Given the description of an element on the screen output the (x, y) to click on. 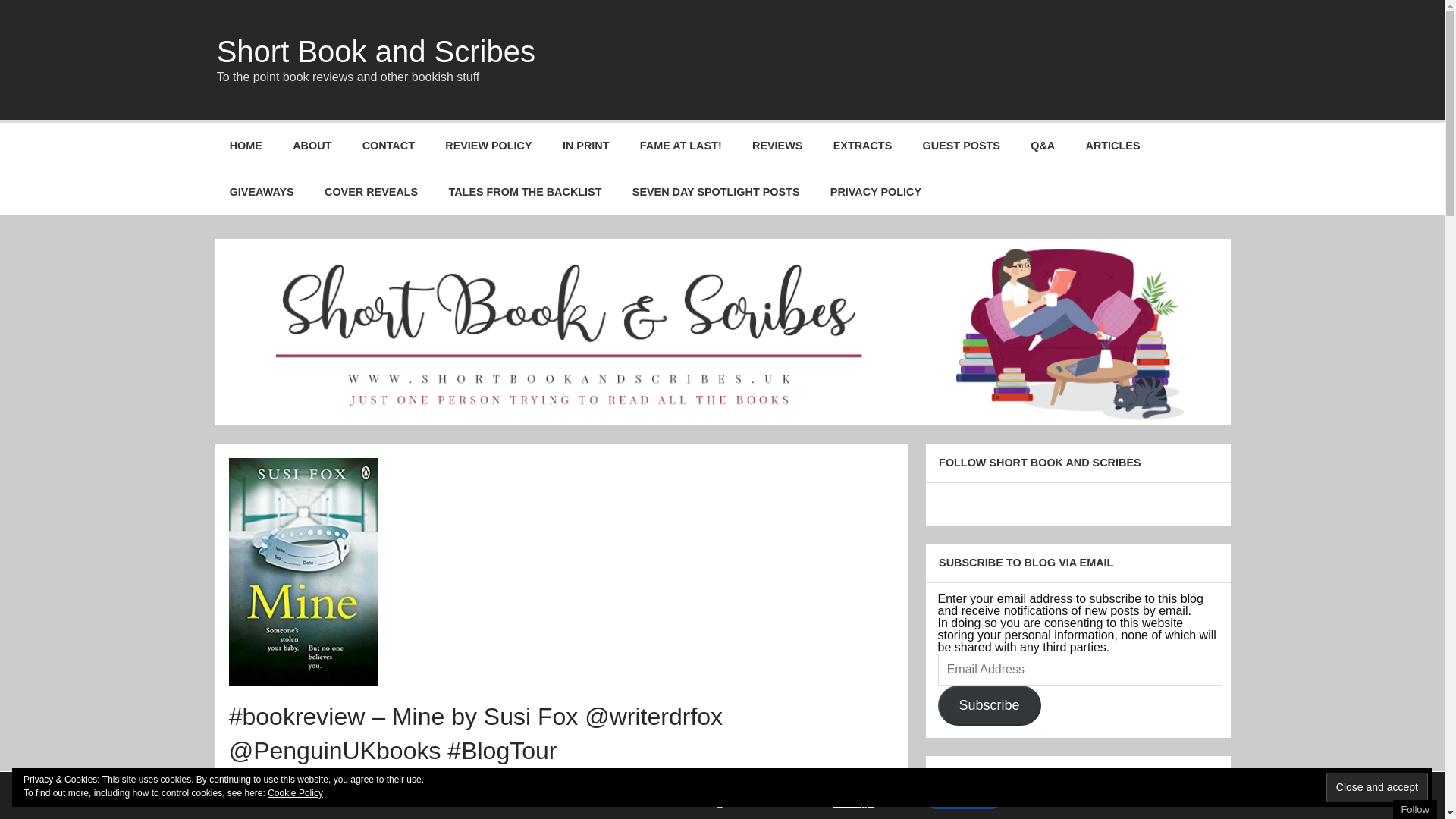
GIVEAWAYS (261, 191)
TALES FROM THE BACKLIST (523, 191)
PRIVACY POLICY (876, 191)
ARTICLES (1112, 145)
CONTACT (387, 145)
REVIEW POLICY (488, 145)
EXTRACTS (862, 145)
Nicola (393, 778)
REVIEWS (777, 145)
08:00 (319, 778)
